Given the description of an element on the screen output the (x, y) to click on. 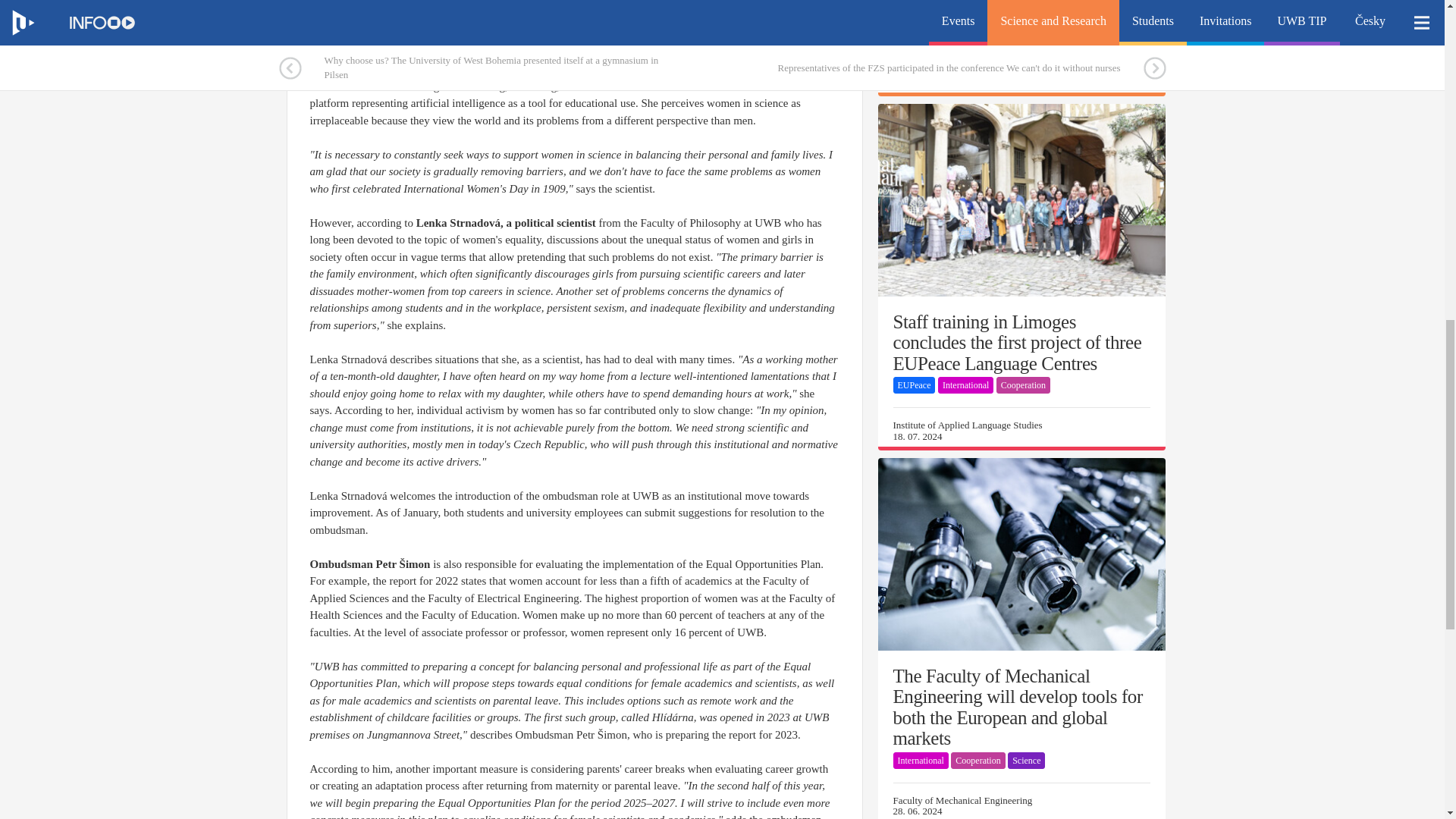
EUPeace (914, 384)
Cooperation (1022, 384)
International (964, 384)
Press Release (965, 31)
Science (1016, 31)
Students (913, 31)
